Given the description of an element on the screen output the (x, y) to click on. 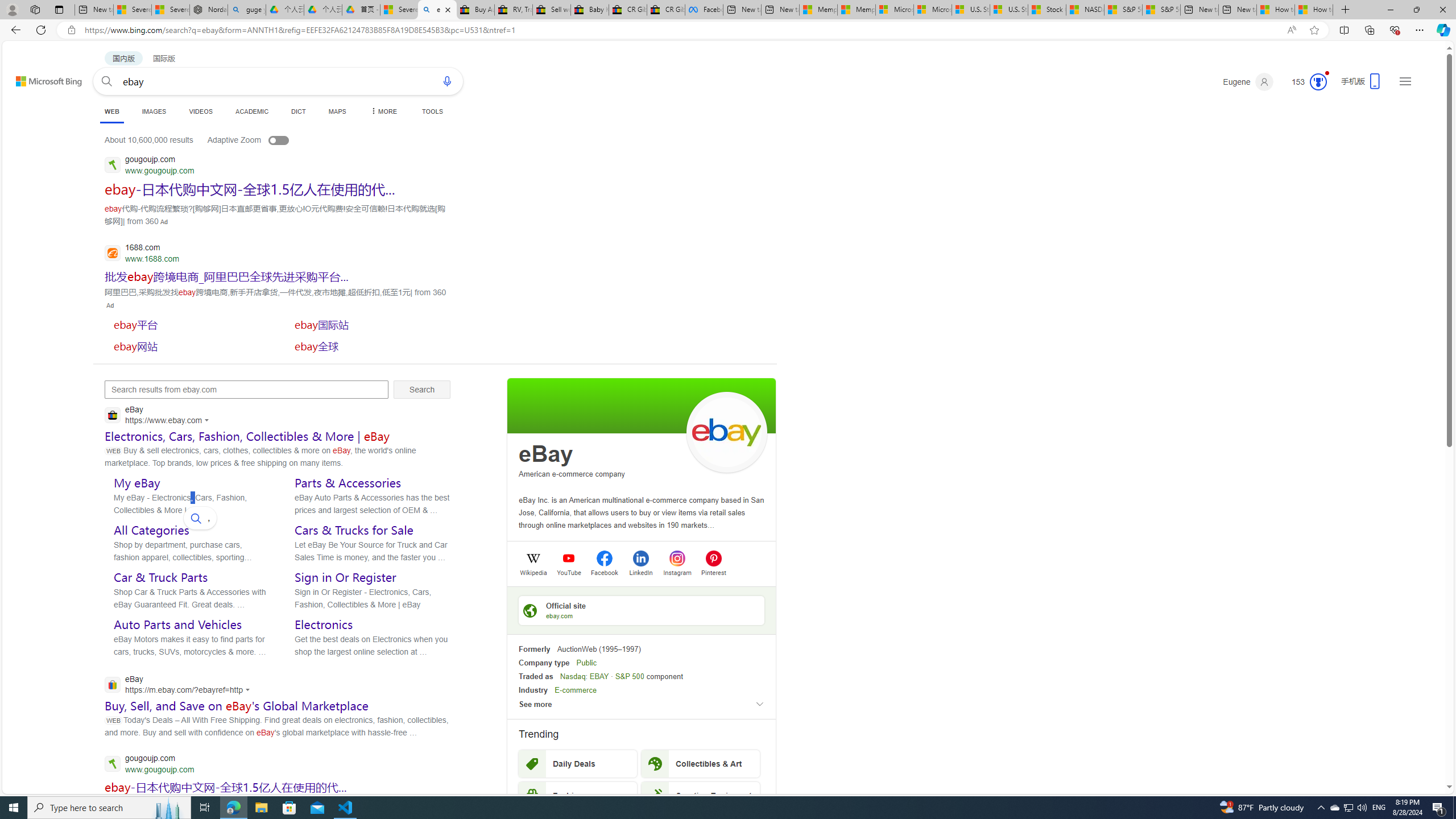
Daily Deals (577, 763)
, (199, 517)
My eBay (136, 482)
MAPS (336, 111)
Sign in Or Register (345, 577)
Instagram (676, 571)
Official siteebay.com (641, 610)
